Given the description of an element on the screen output the (x, y) to click on. 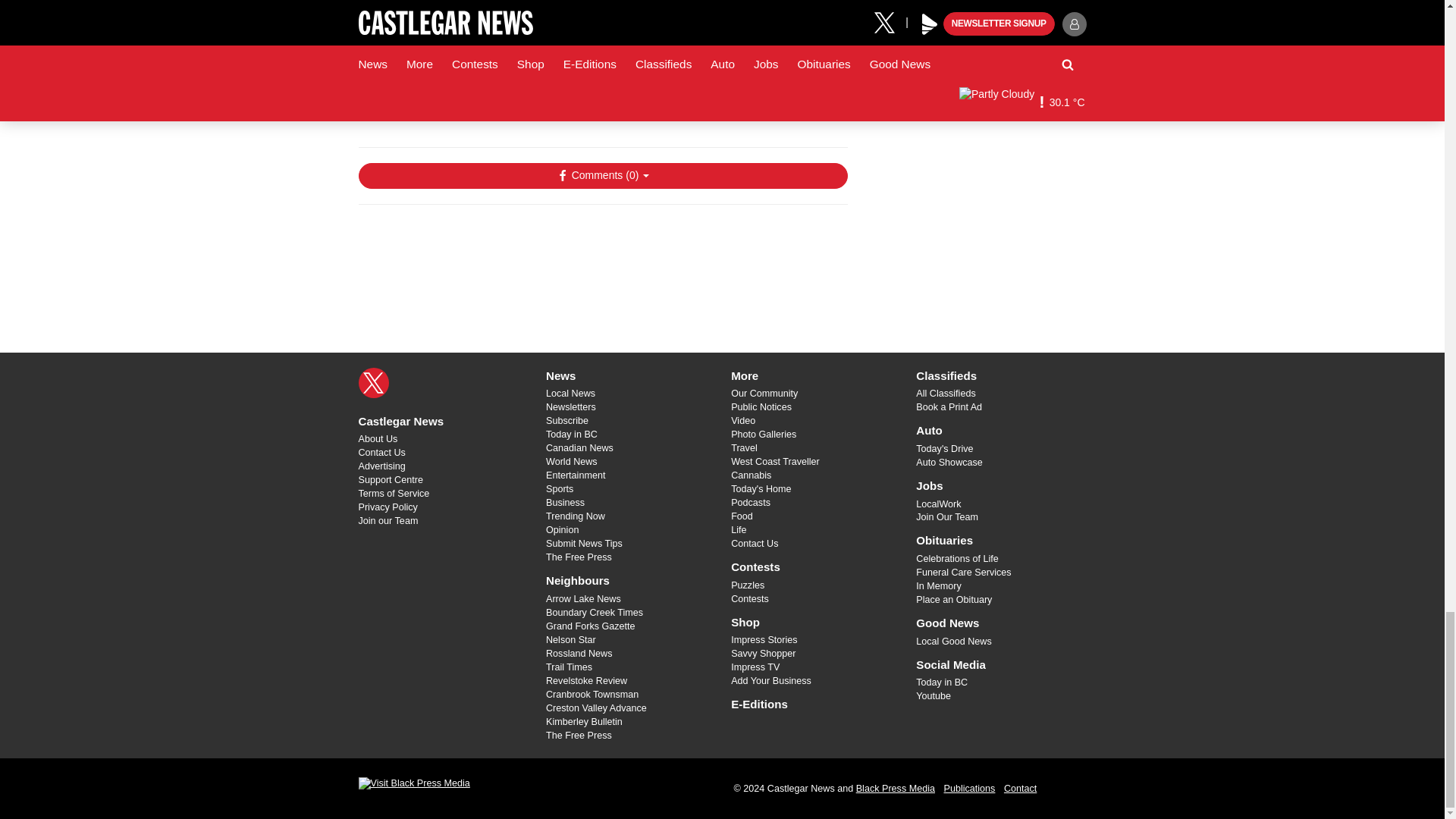
X (373, 382)
Show Comments (602, 175)
